Given the description of an element on the screen output the (x, y) to click on. 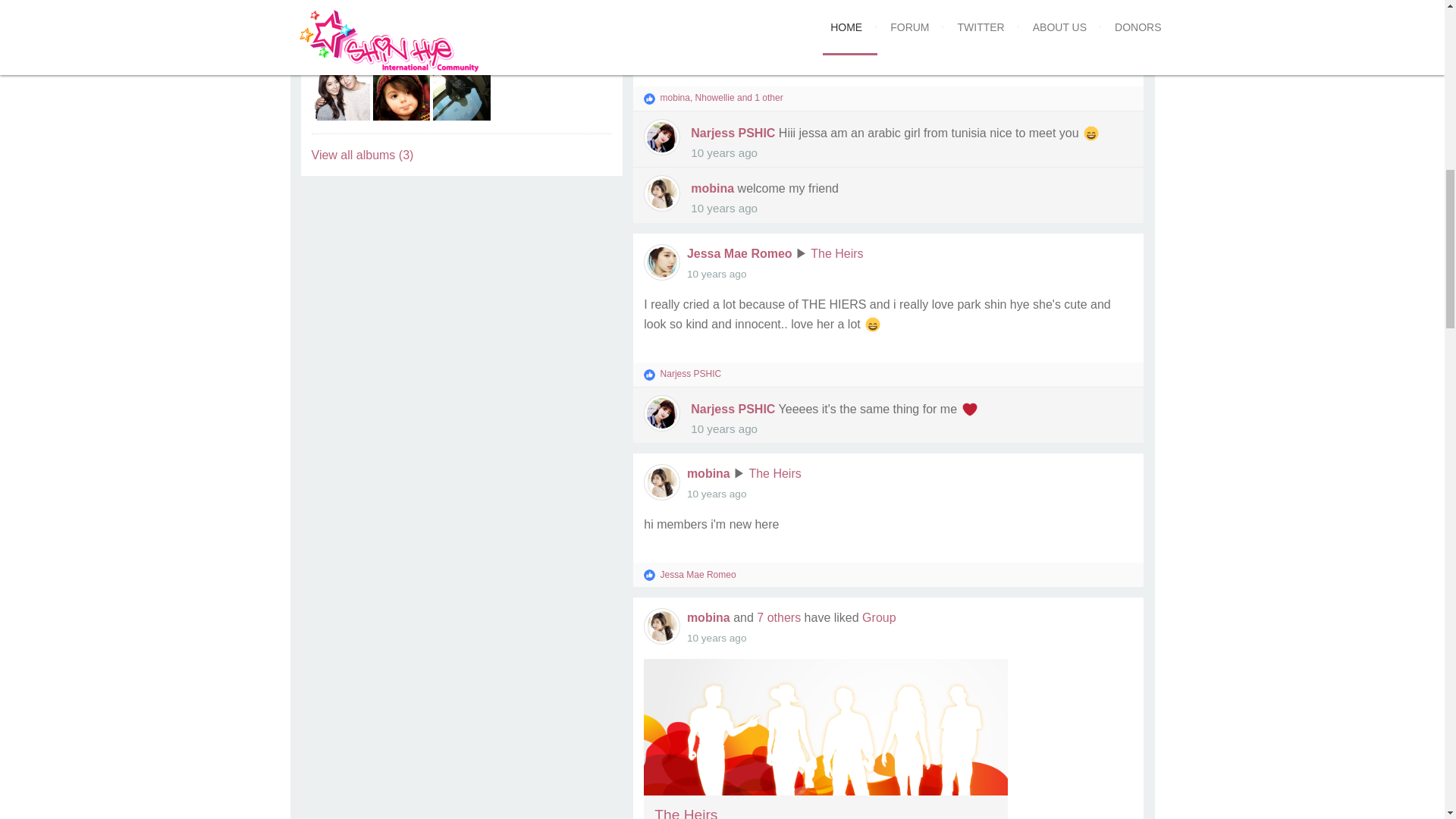
Photo Albums (461, 34)
